Given the description of an element on the screen output the (x, y) to click on. 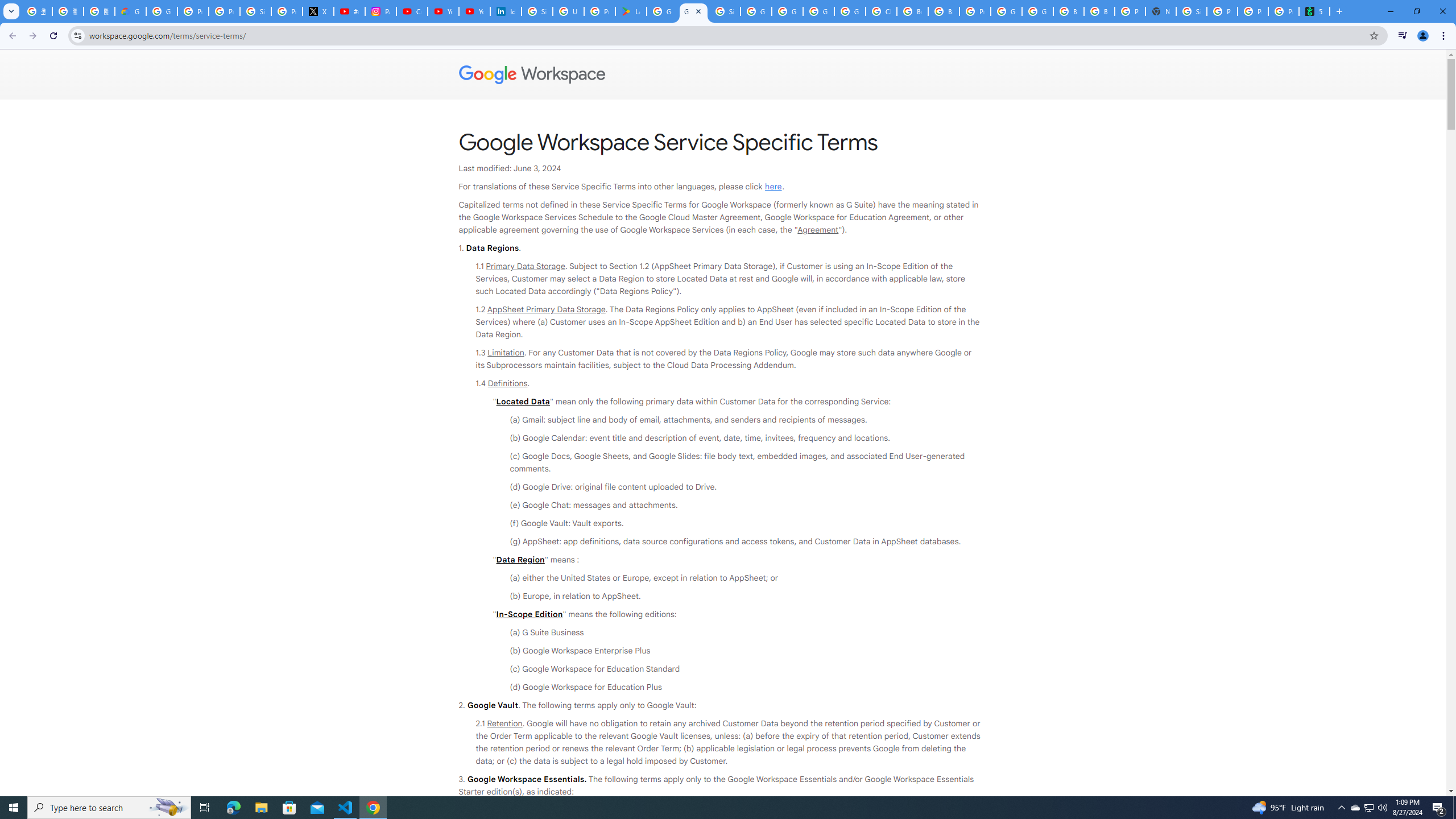
Last Shelter: Survival - Apps on Google Play (631, 11)
Privacy Help Center - Policies Help (223, 11)
Sign in - Google Accounts (1190, 11)
